Given the description of an element on the screen output the (x, y) to click on. 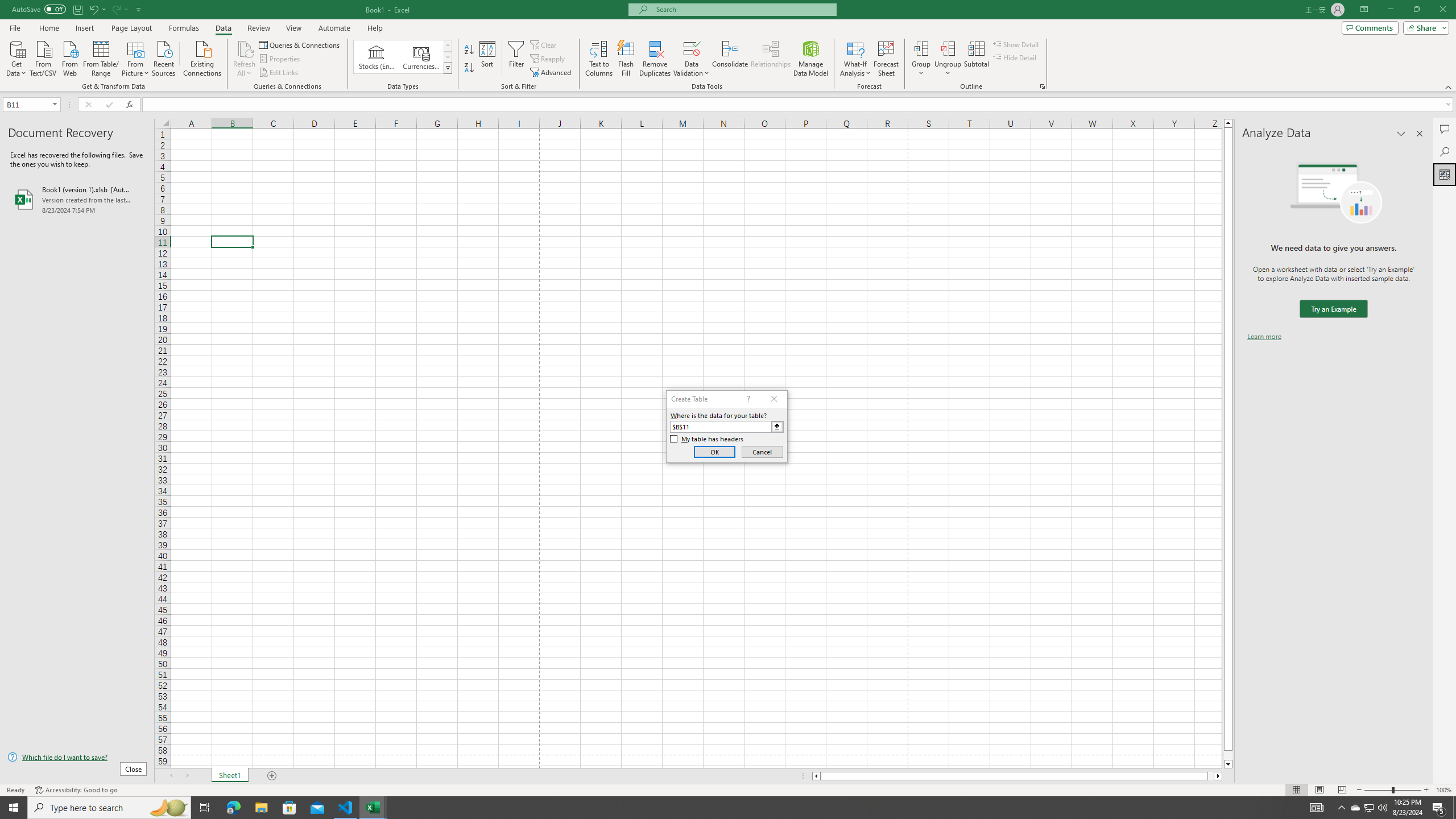
We need data to give you answers. Try an Example (1333, 308)
Subtotal (976, 58)
From Text/CSV (43, 57)
Forecast Sheet (885, 58)
